Given the description of an element on the screen output the (x, y) to click on. 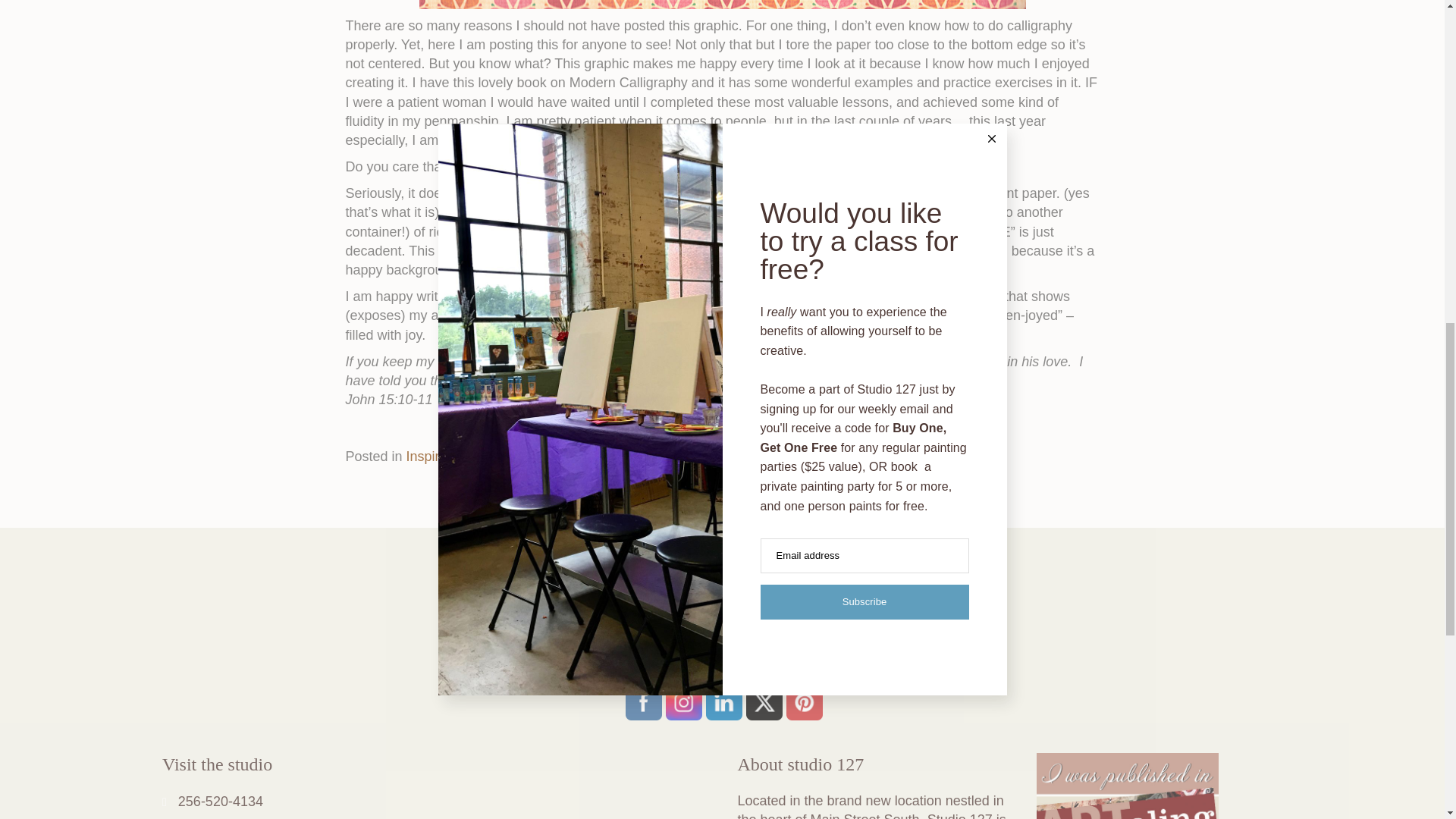
Twitter (764, 701)
Facebook (644, 701)
